Given the description of an element on the screen output the (x, y) to click on. 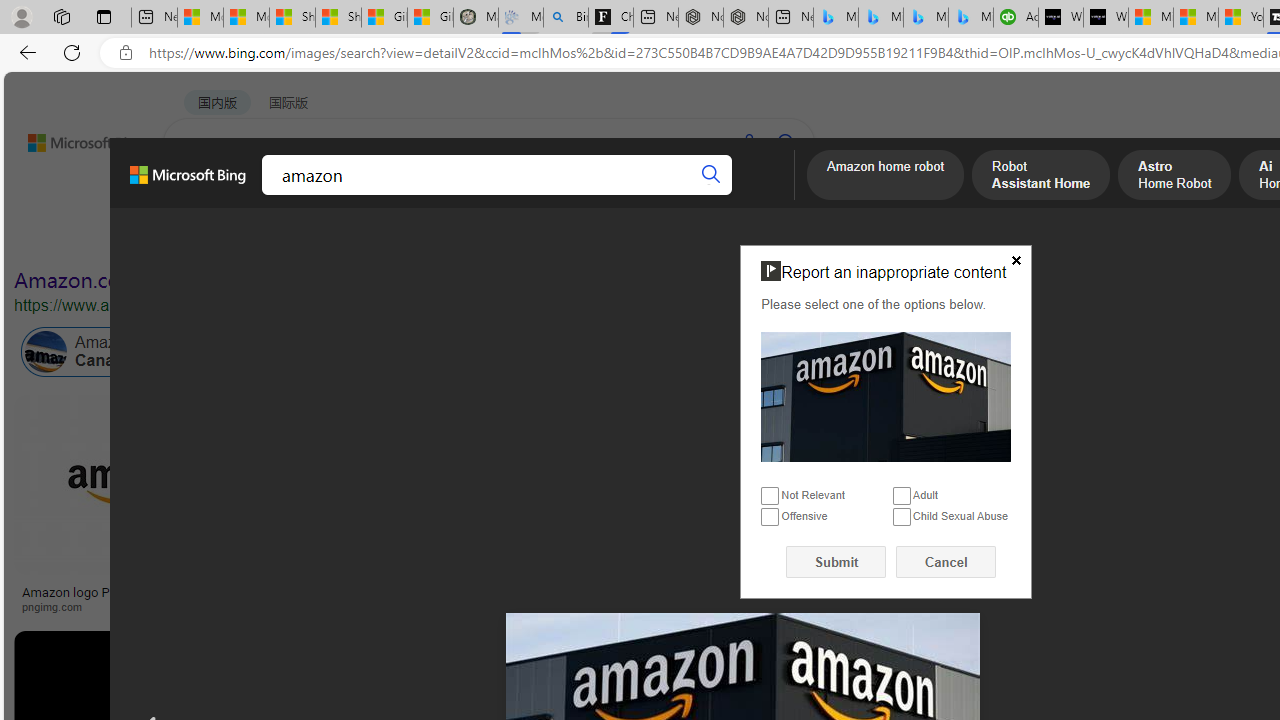
usatoday.com (710, 606)
Alexa Smart Home Devices (1183, 584)
Chloe Sorvino (610, 17)
WEB (201, 195)
Amazon Kids (422, 351)
Amazon Cloud (564, 351)
Color (305, 237)
aiophotoz.com (941, 605)
Amazon home robot (885, 177)
mytotalretail.com (396, 606)
Amazon Labor Law Violation in California (993, 351)
Offensive (770, 517)
